Given the description of an element on the screen output the (x, y) to click on. 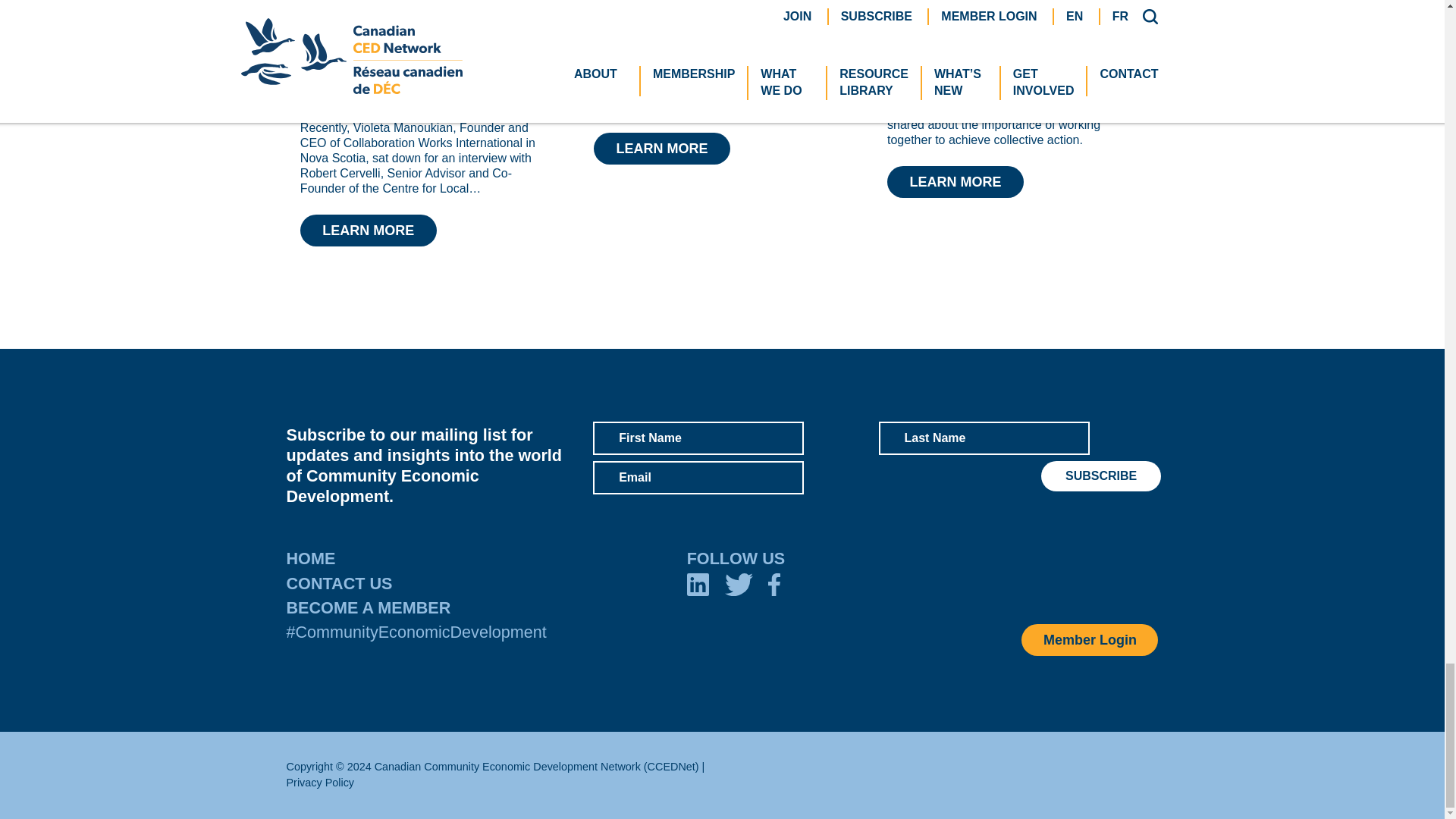
CCEDNet Manitoba Summer 2024 Newsletter (704, 6)
CCEDNet Manitoba Summer 2024 Newsletter (662, 147)
Subscribe (1100, 476)
